Given the description of an element on the screen output the (x, y) to click on. 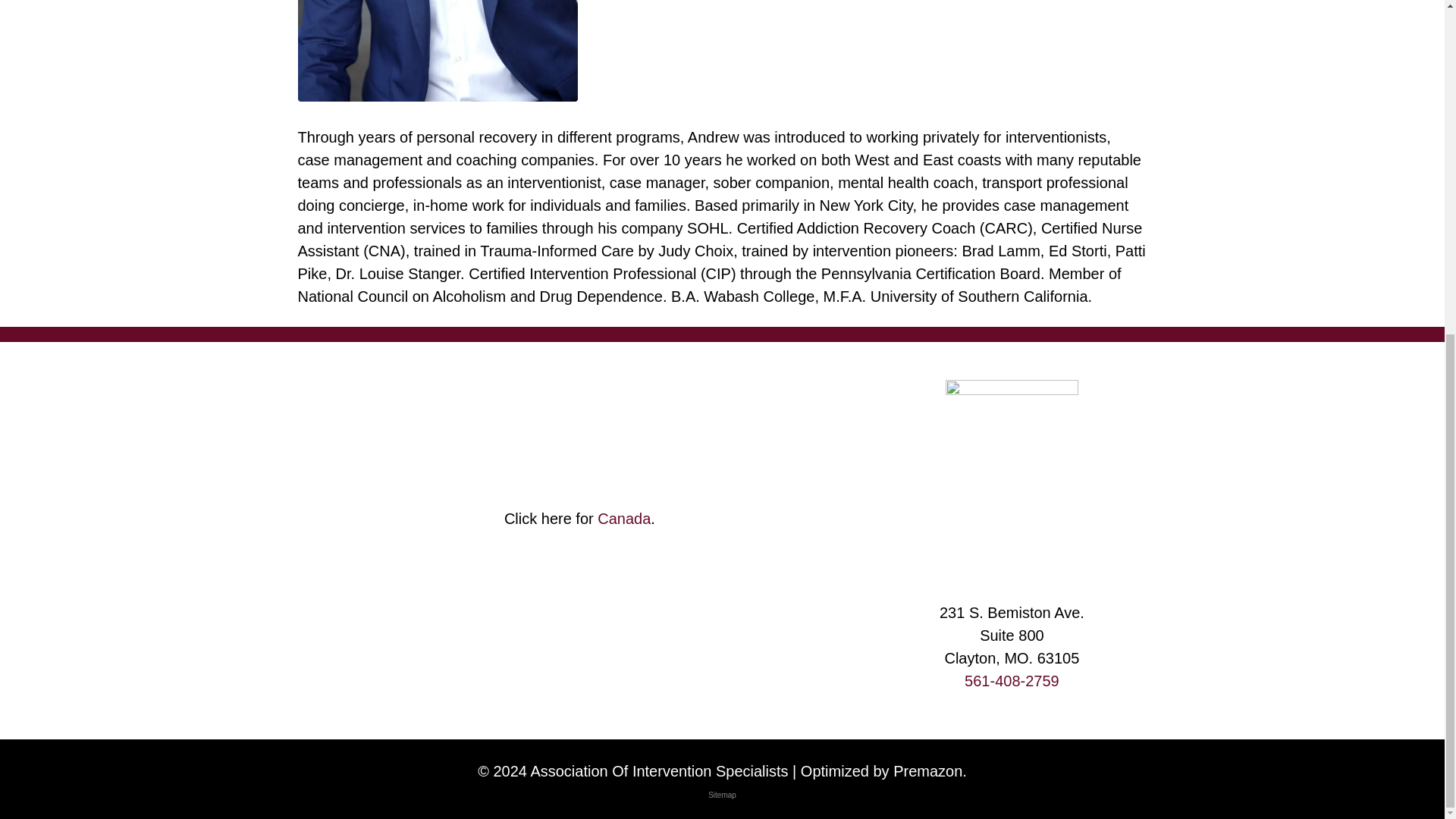
561-408-2759 (1011, 680)
Sitemap (721, 795)
Premazon (927, 770)
Canada (623, 518)
